Given the description of an element on the screen output the (x, y) to click on. 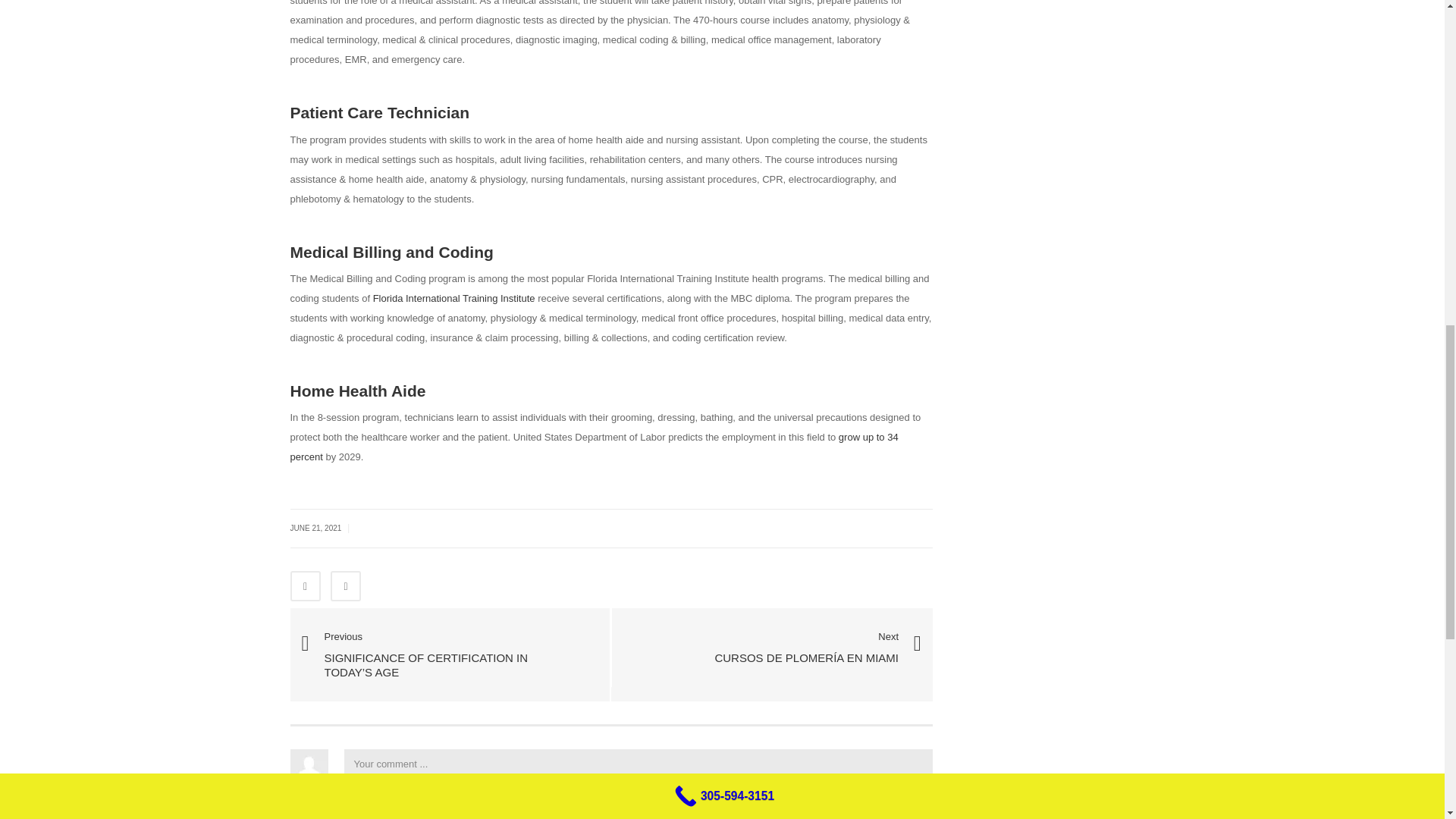
Share on Facebook (304, 585)
Share on Twitter (345, 585)
